Given the description of an element on the screen output the (x, y) to click on. 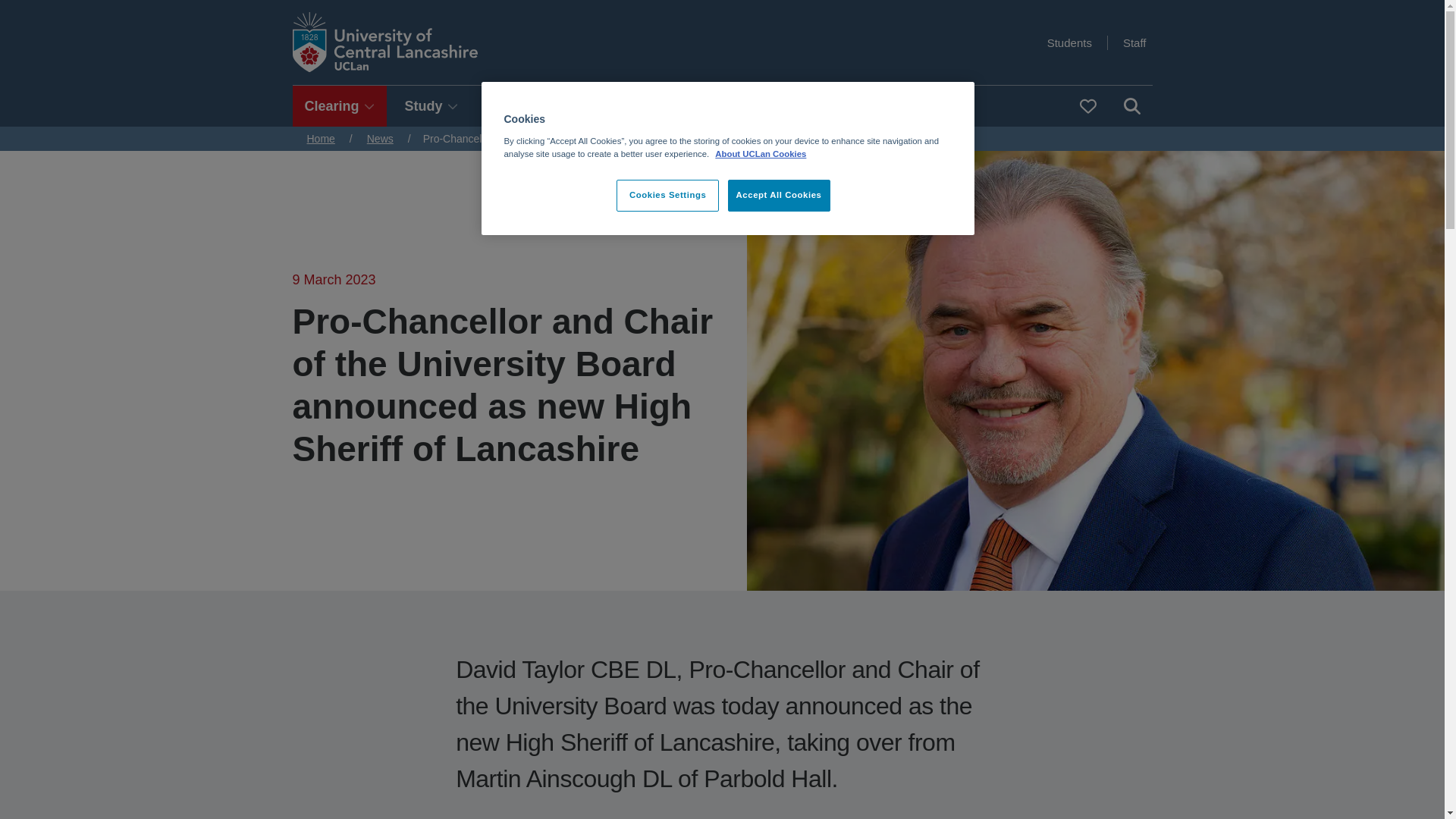
Students (1069, 42)
Clearing (339, 105)
Life (508, 105)
Staff (1134, 42)
Study (431, 105)
